Given the description of an element on the screen output the (x, y) to click on. 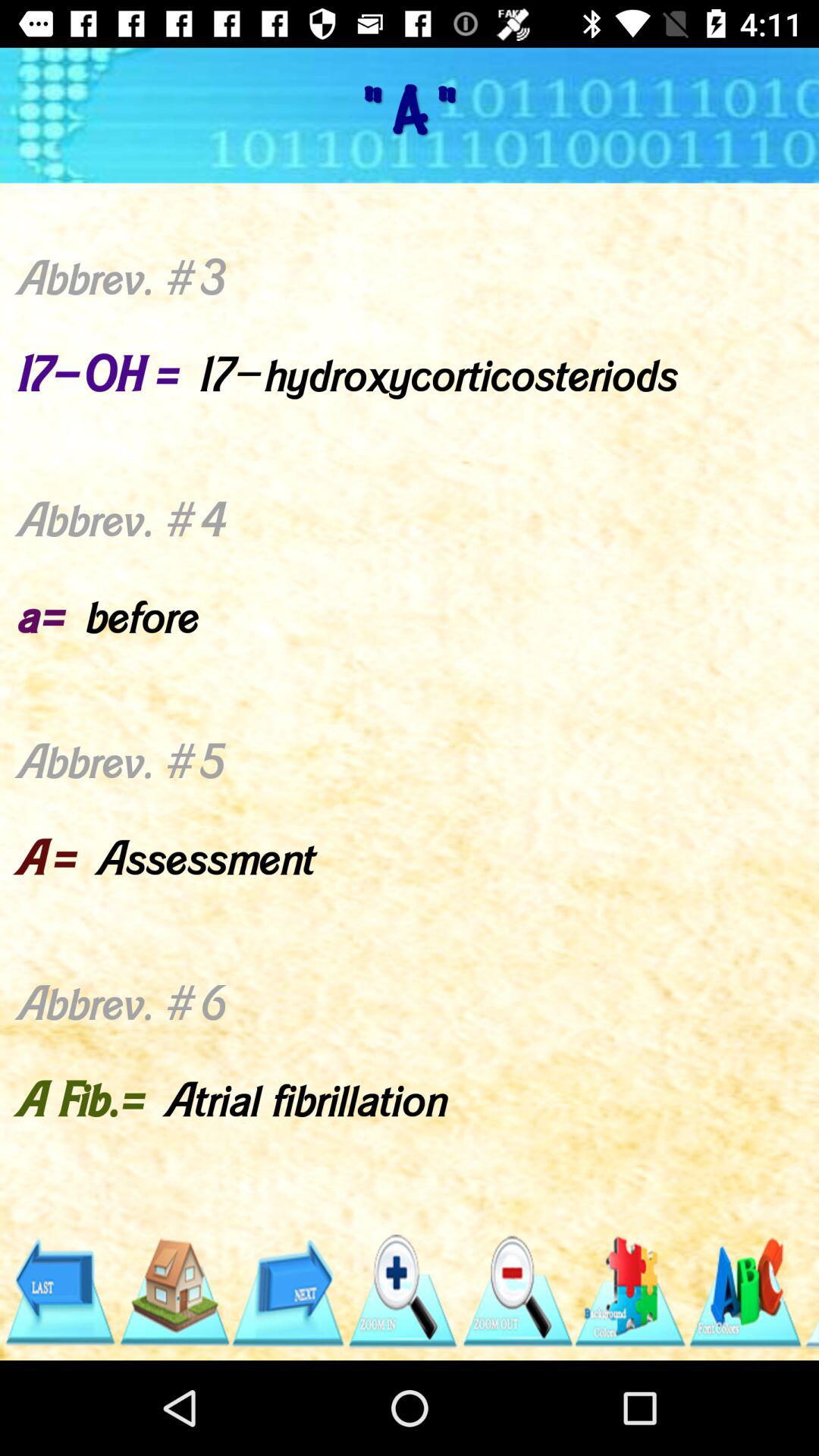
puzzle application option (630, 1291)
